Given the description of an element on the screen output the (x, y) to click on. 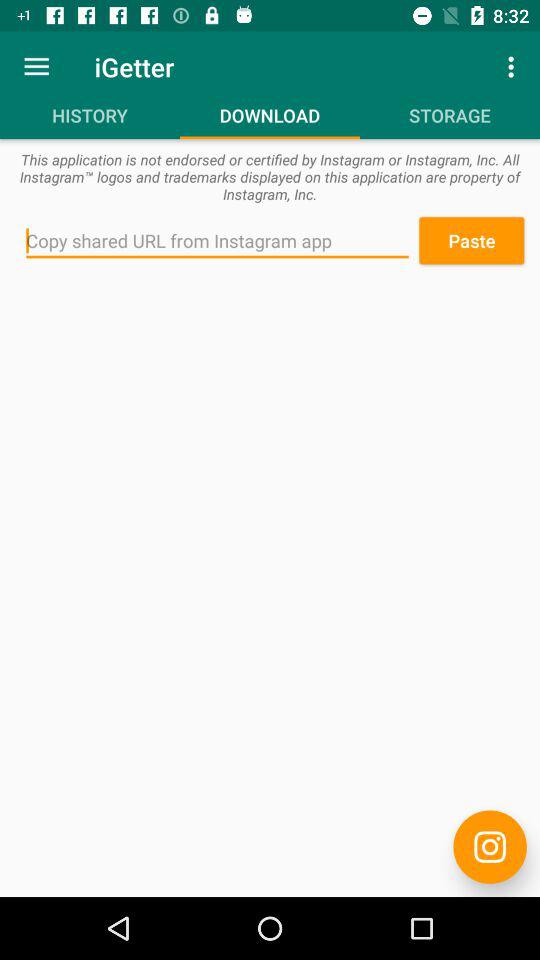
tap the icon next to the igetter item (513, 66)
